Given the description of an element on the screen output the (x, y) to click on. 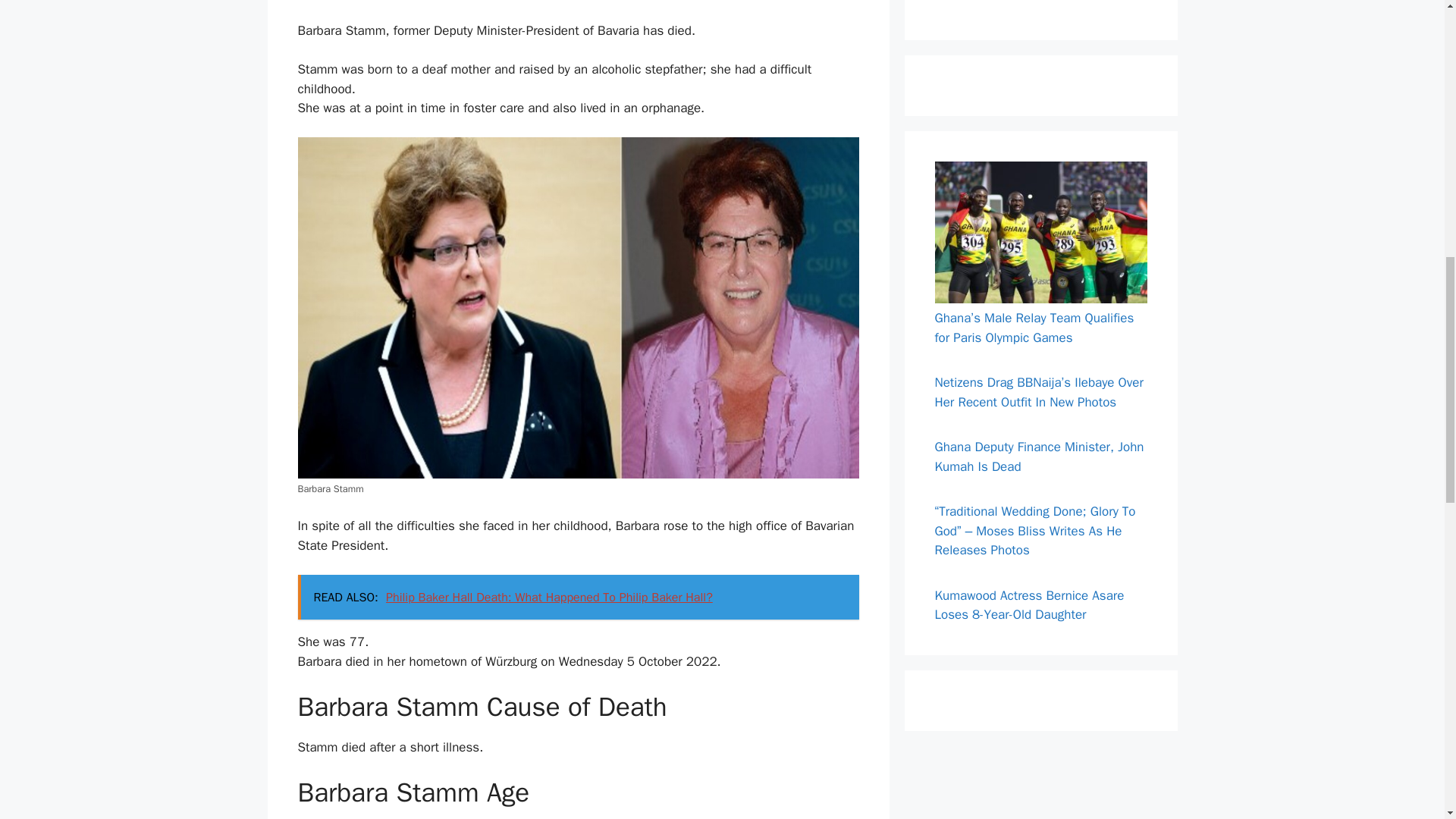
Kumawood Actress Bernice Asare Loses 8-Year-Old Daughter (1029, 605)
Ghana Deputy Finance Minister, John Kumah Is Dead (1038, 456)
